Given the description of an element on the screen output the (x, y) to click on. 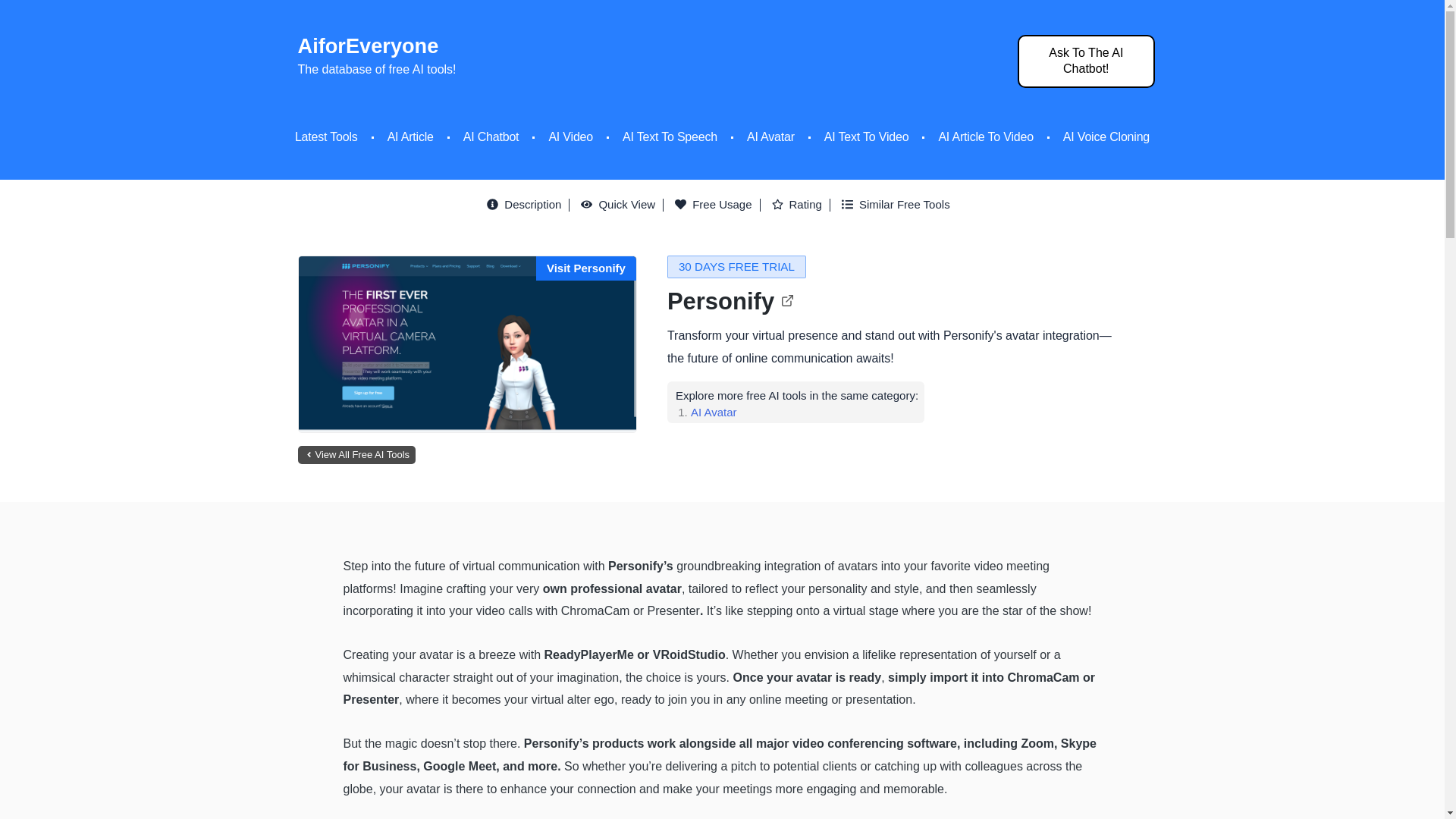
AI Article (410, 136)
AI Voice Cloning (1106, 136)
Ask To The AI Chatbot! (1085, 61)
Rating (800, 205)
AI Video (570, 136)
Free Usage (717, 205)
AI Article To Video (984, 136)
Latest Tools (326, 136)
AI Text To Video (866, 136)
AI Avatar (770, 136)
AiforEveryone (367, 45)
Personify (729, 301)
AI Avatar (713, 411)
Similar Free Tools (899, 205)
Visit Personify (586, 267)
